Given the description of an element on the screen output the (x, y) to click on. 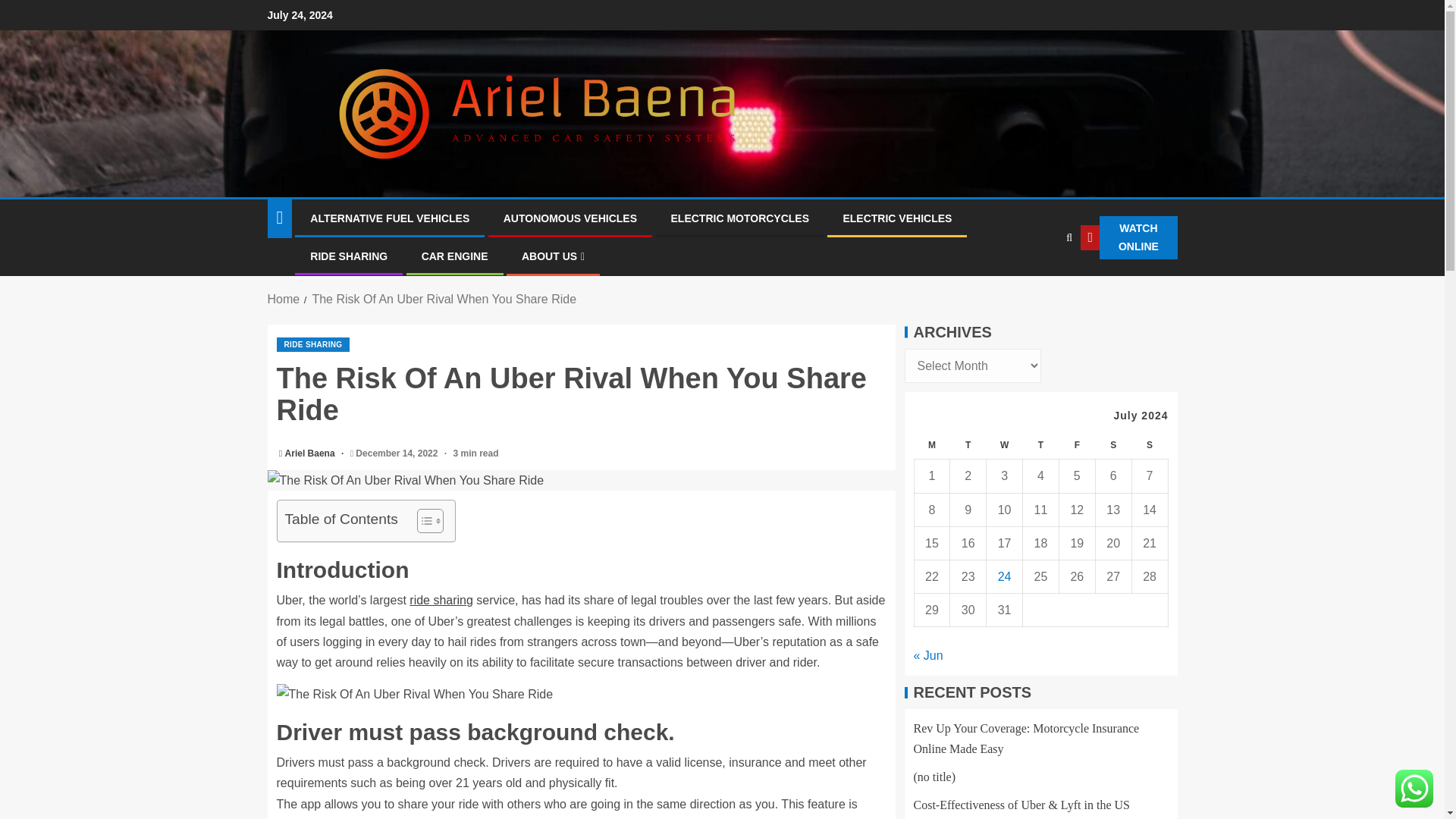
ride sharing (441, 599)
Monday (932, 445)
Home (282, 298)
WATCH ONLINE (1128, 238)
CAR ENGINE (454, 256)
ALTERNATIVE FUEL VEHICLES (389, 218)
RIDE SHARING (348, 256)
The Risk Of An Uber Rival When You Share Ride (414, 693)
RIDE SHARING (312, 344)
Ariel Baena (311, 452)
ELECTRIC MOTORCYCLES (739, 218)
ELECTRIC VEHICLES (897, 218)
Search (1037, 284)
Tuesday (968, 445)
ABOUT US (553, 256)
